Given the description of an element on the screen output the (x, y) to click on. 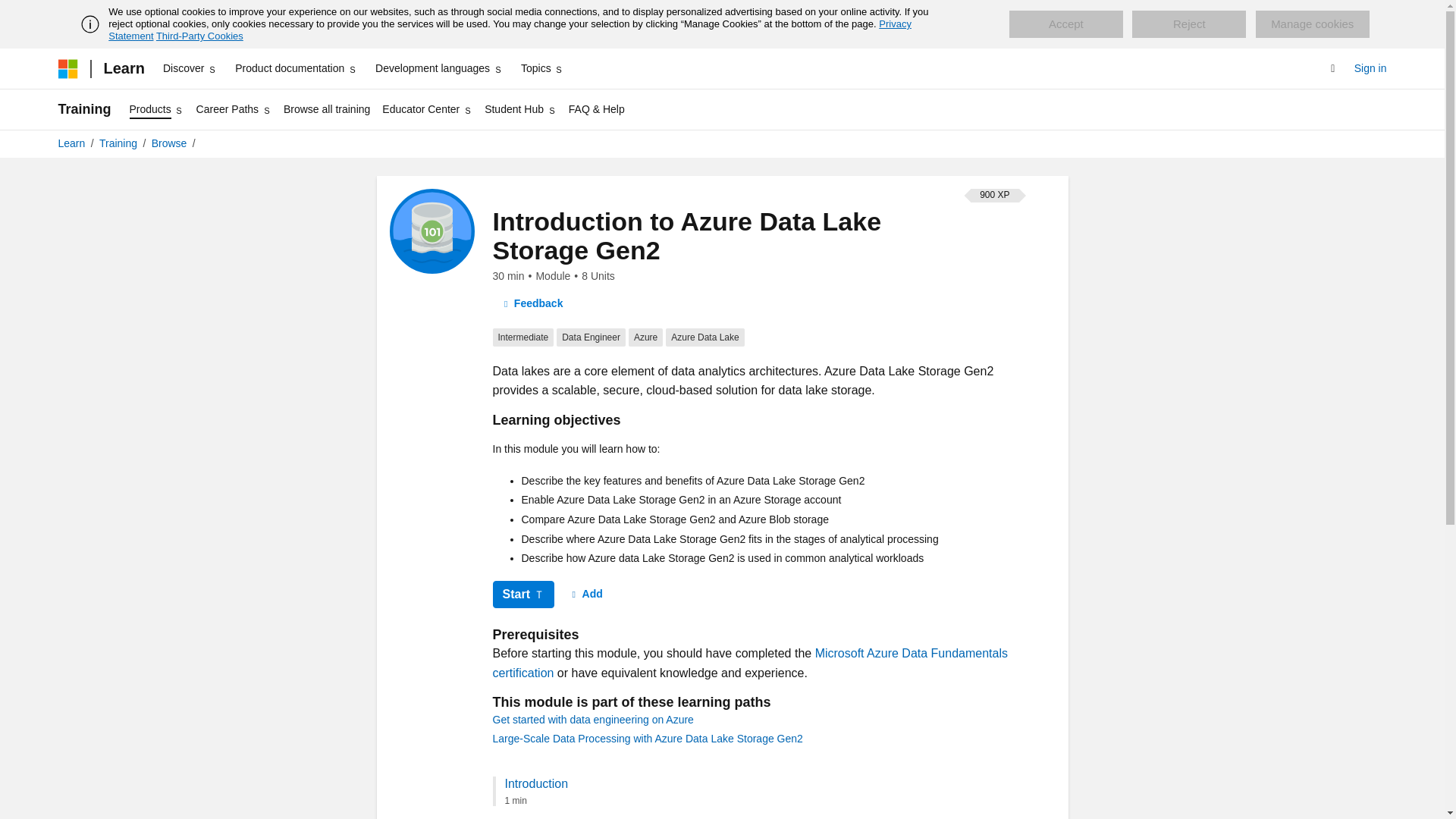
Sign in (1370, 68)
Topics (542, 68)
Product documentation (295, 68)
Development languages (438, 68)
Reject (1189, 23)
Manage cookies (1312, 23)
Skip to main content (11, 11)
Discover (189, 68)
Third-Party Cookies (199, 35)
Training (84, 109)
